Given the description of an element on the screen output the (x, y) to click on. 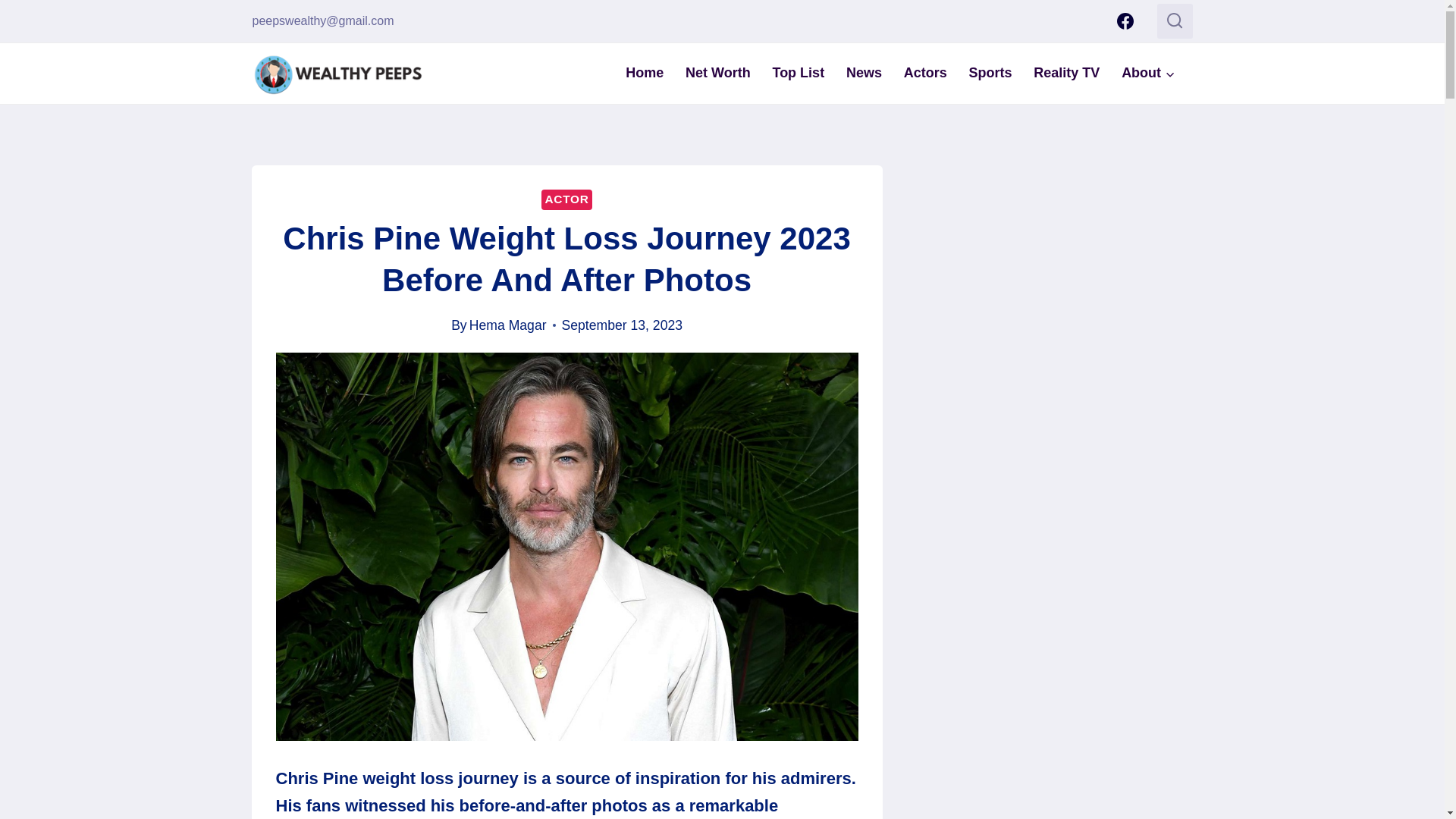
Home (644, 72)
Reality TV (1066, 72)
ACTOR (566, 199)
Top List (797, 72)
Net Worth (718, 72)
Hema Magar (507, 324)
About (1148, 72)
Sports (990, 72)
News (864, 72)
Actors (925, 72)
